Given the description of an element on the screen output the (x, y) to click on. 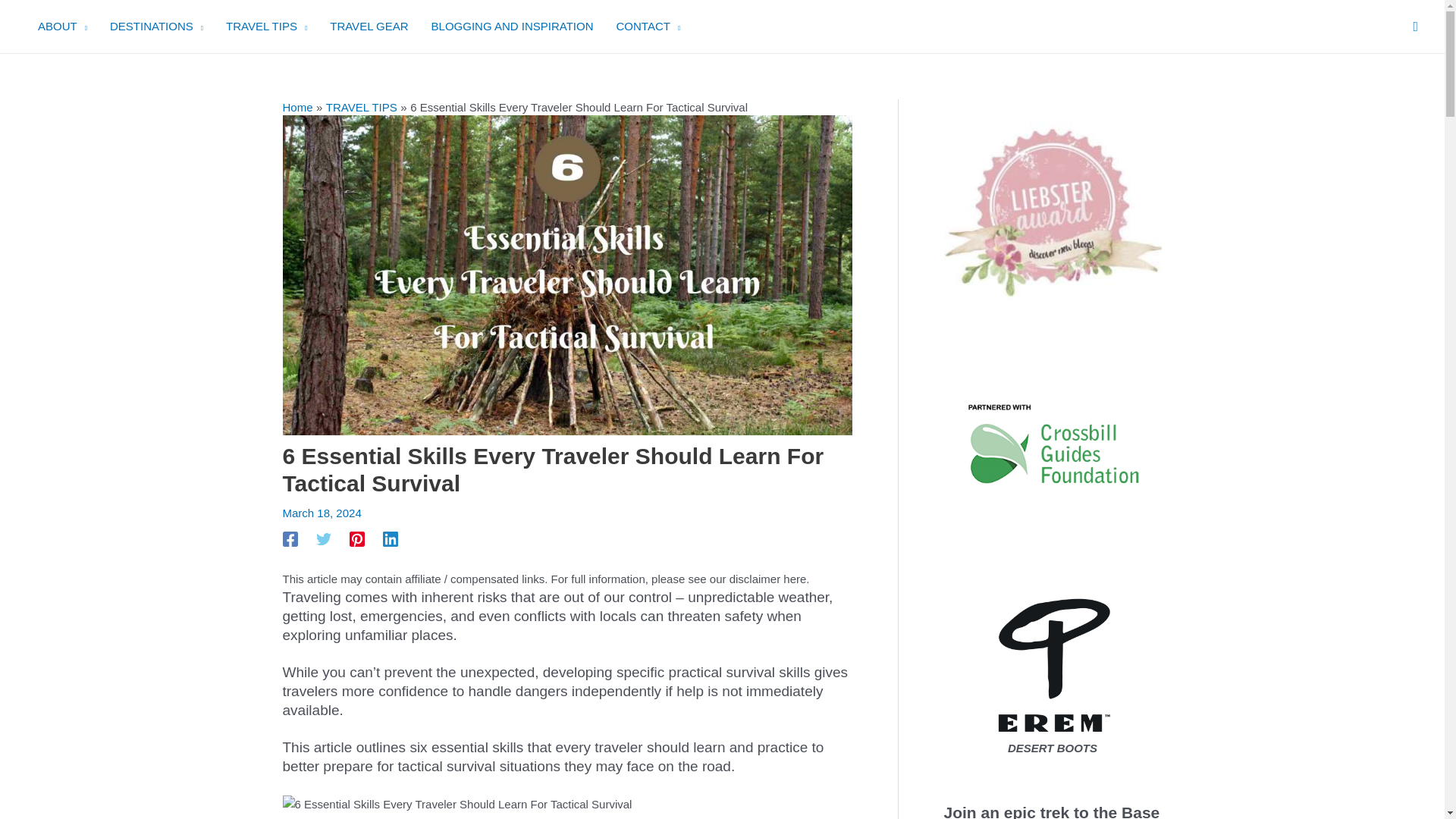
ABOUT (62, 26)
DESTINATIONS (156, 26)
